Given the description of an element on the screen output the (x, y) to click on. 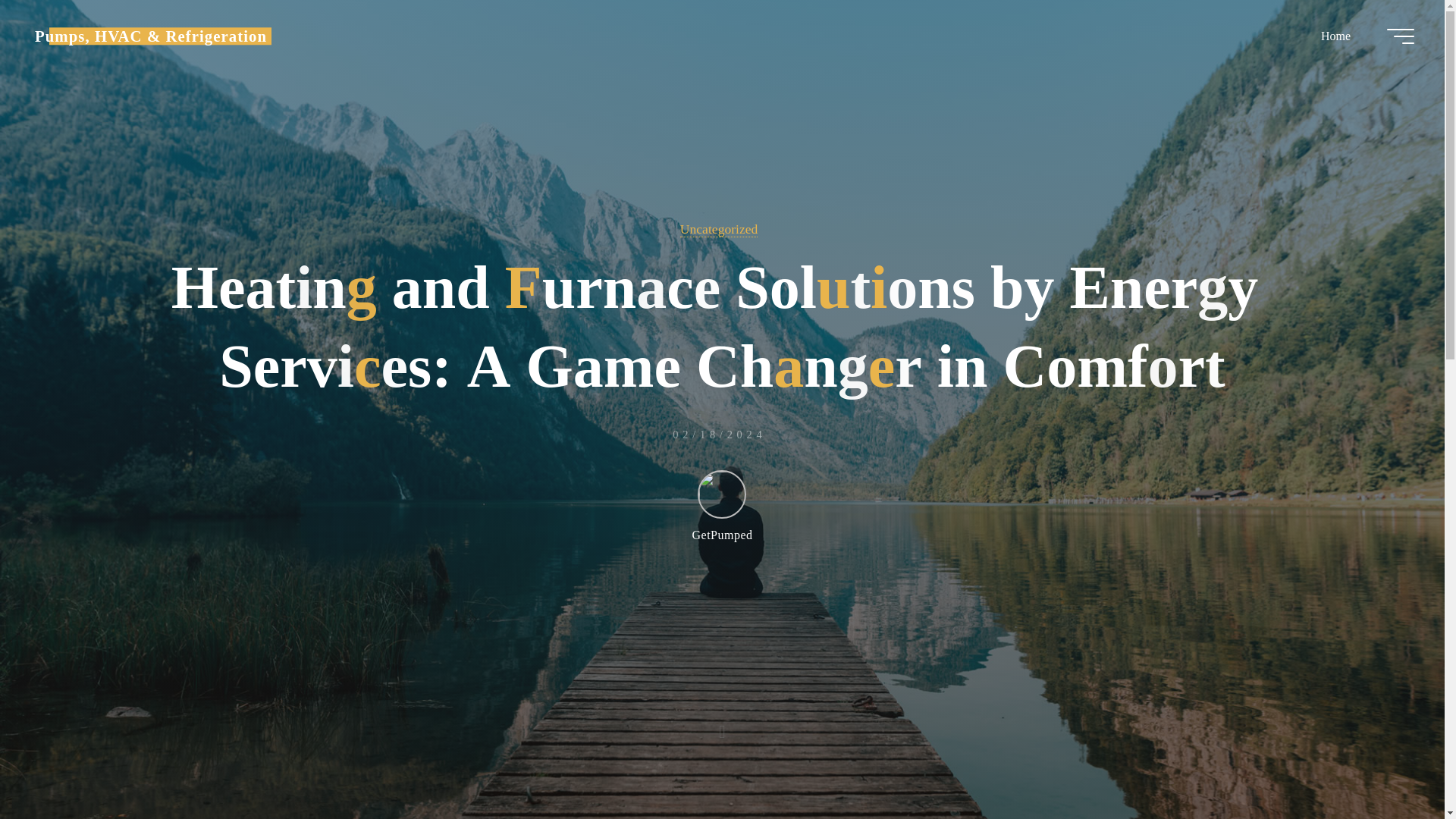
Your Commercial HVAC Information Center (150, 36)
Home (1335, 35)
Read more (721, 724)
Uncategorized (718, 229)
